Given the description of an element on the screen output the (x, y) to click on. 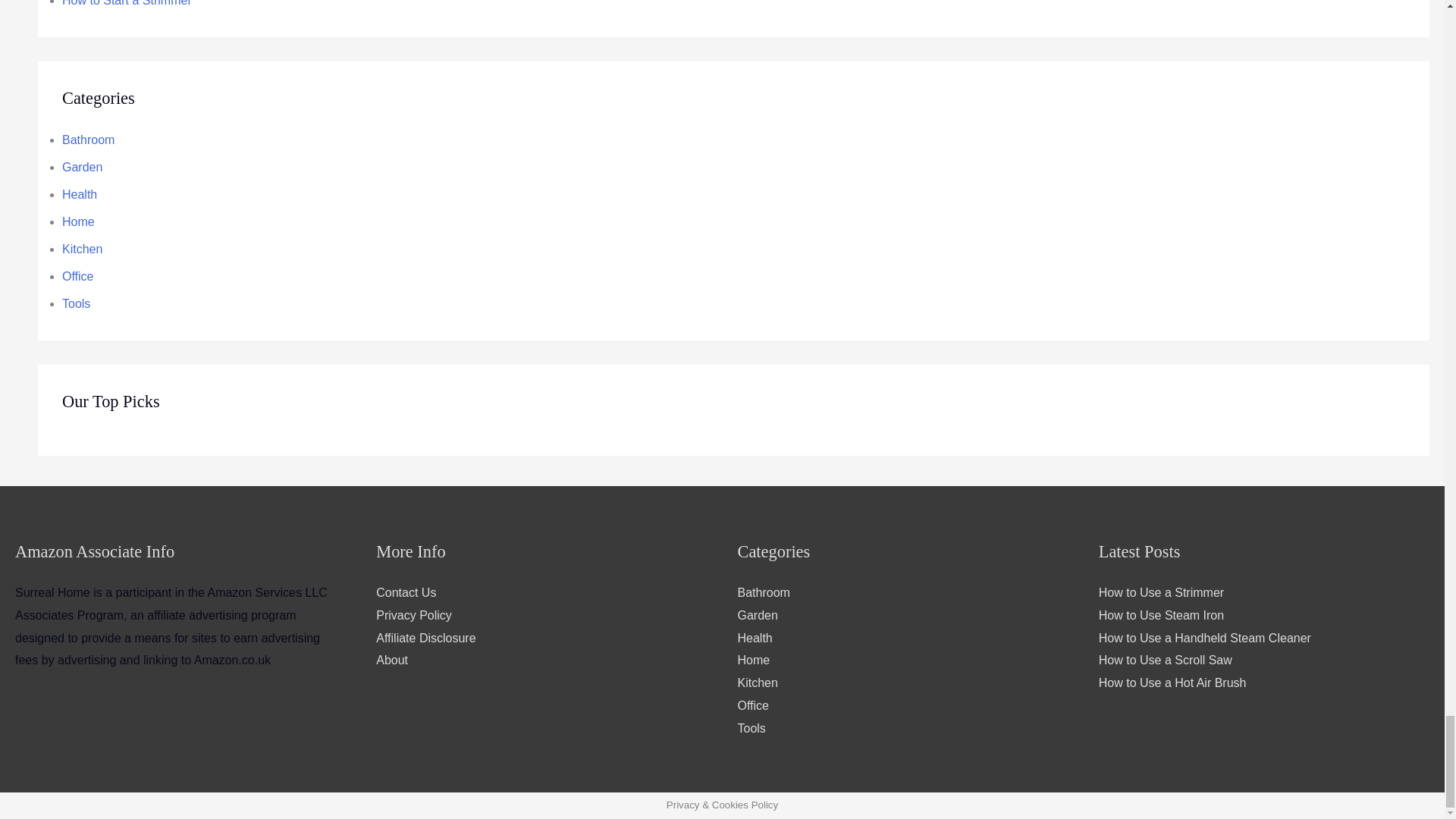
Tools (76, 303)
How to Start a Strimmer (127, 3)
Bathroom (762, 592)
Kitchen (81, 248)
Office (78, 276)
About (391, 659)
Contact Us (405, 592)
Bathroom (88, 139)
Home (78, 221)
Garden (81, 166)
Privacy Policy (413, 615)
Affiliate Disclosure (425, 637)
Health (79, 194)
